Given the description of an element on the screen output the (x, y) to click on. 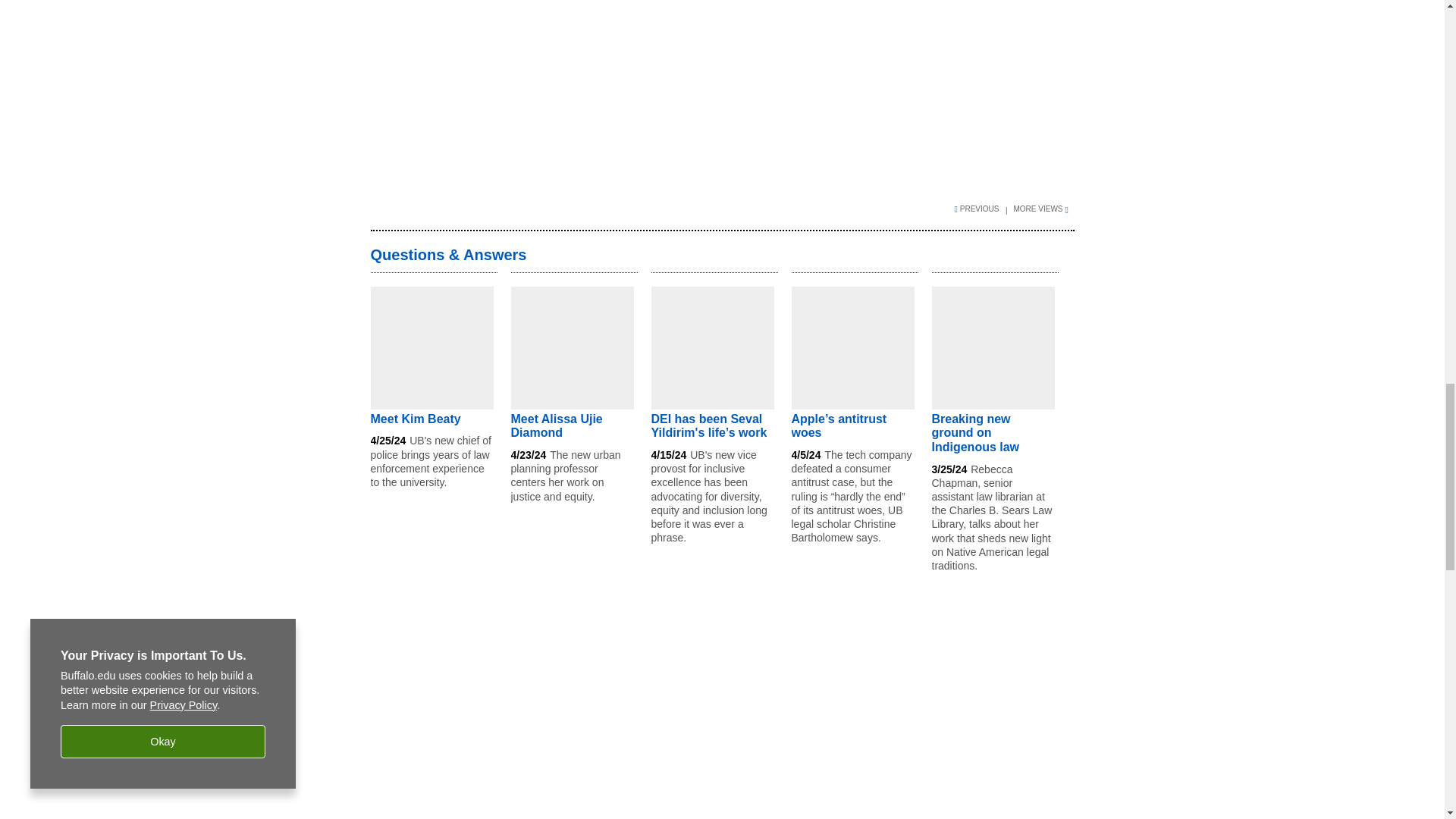
MORE VIEWS (1043, 207)
PREVIOUS (981, 207)
